Given the description of an element on the screen output the (x, y) to click on. 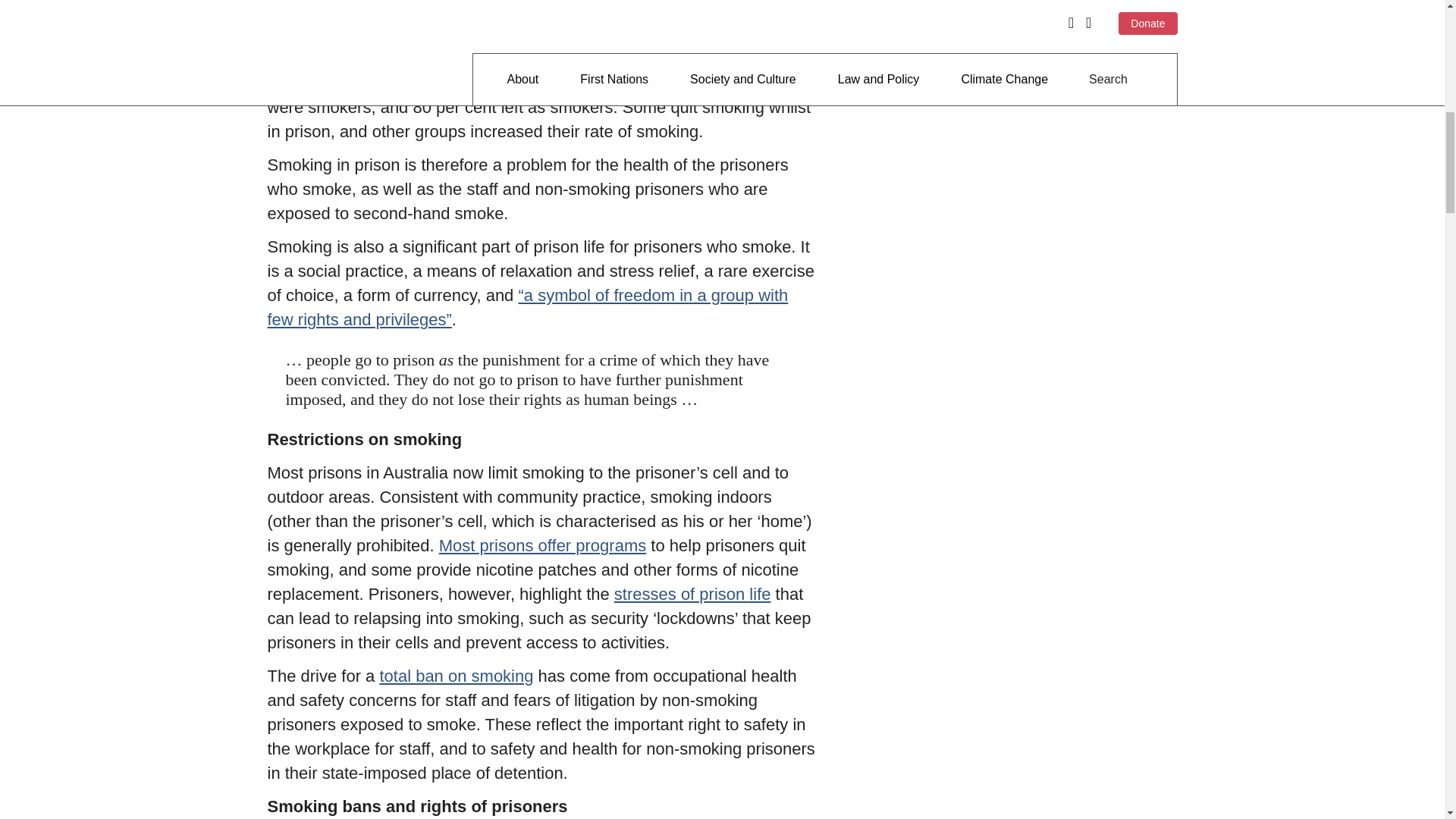
Most prisons offer programs (542, 545)
stresses of prison life (692, 593)
84 per cent of prisoners (503, 82)
total ban on smoking (455, 675)
